Given the description of an element on the screen output the (x, y) to click on. 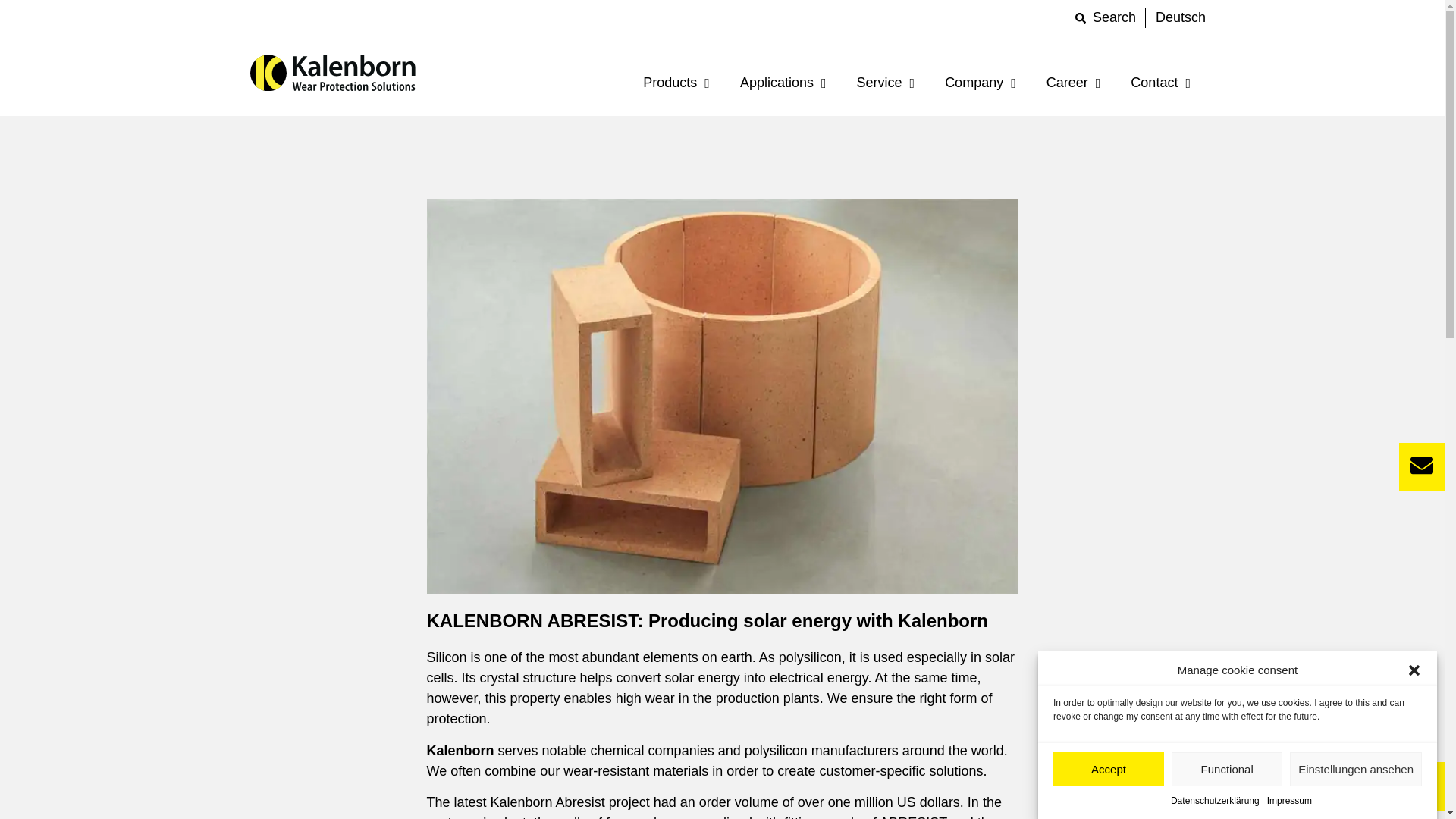
Deutsch (1180, 17)
Search (1105, 17)
Products (676, 84)
